Given the description of an element on the screen output the (x, y) to click on. 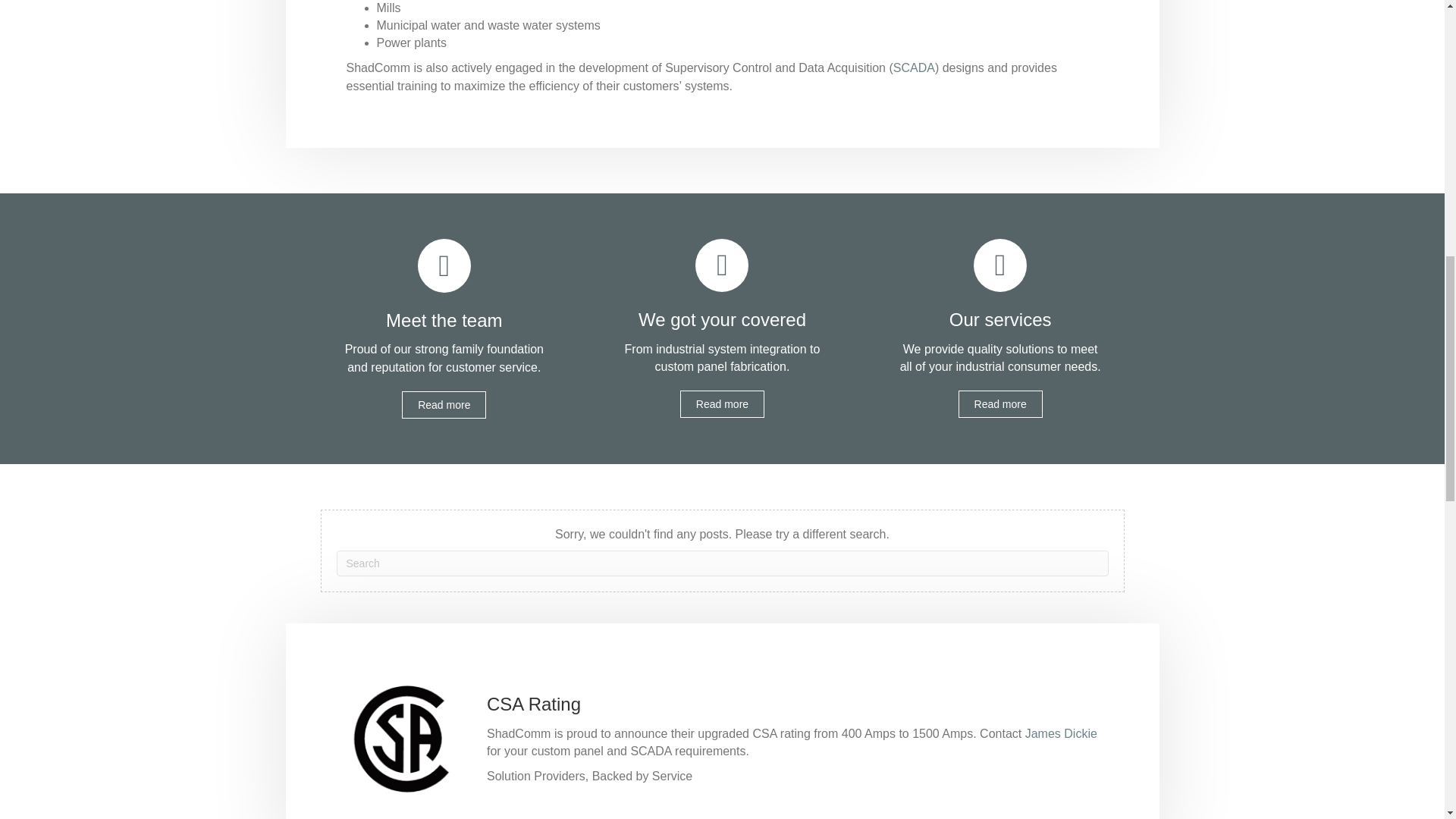
CSA-logo-300x300 (400, 738)
SCADA (913, 67)
Read more (443, 404)
Meet the team (443, 320)
Type and press Enter to search. (722, 563)
